Given the description of an element on the screen output the (x, y) to click on. 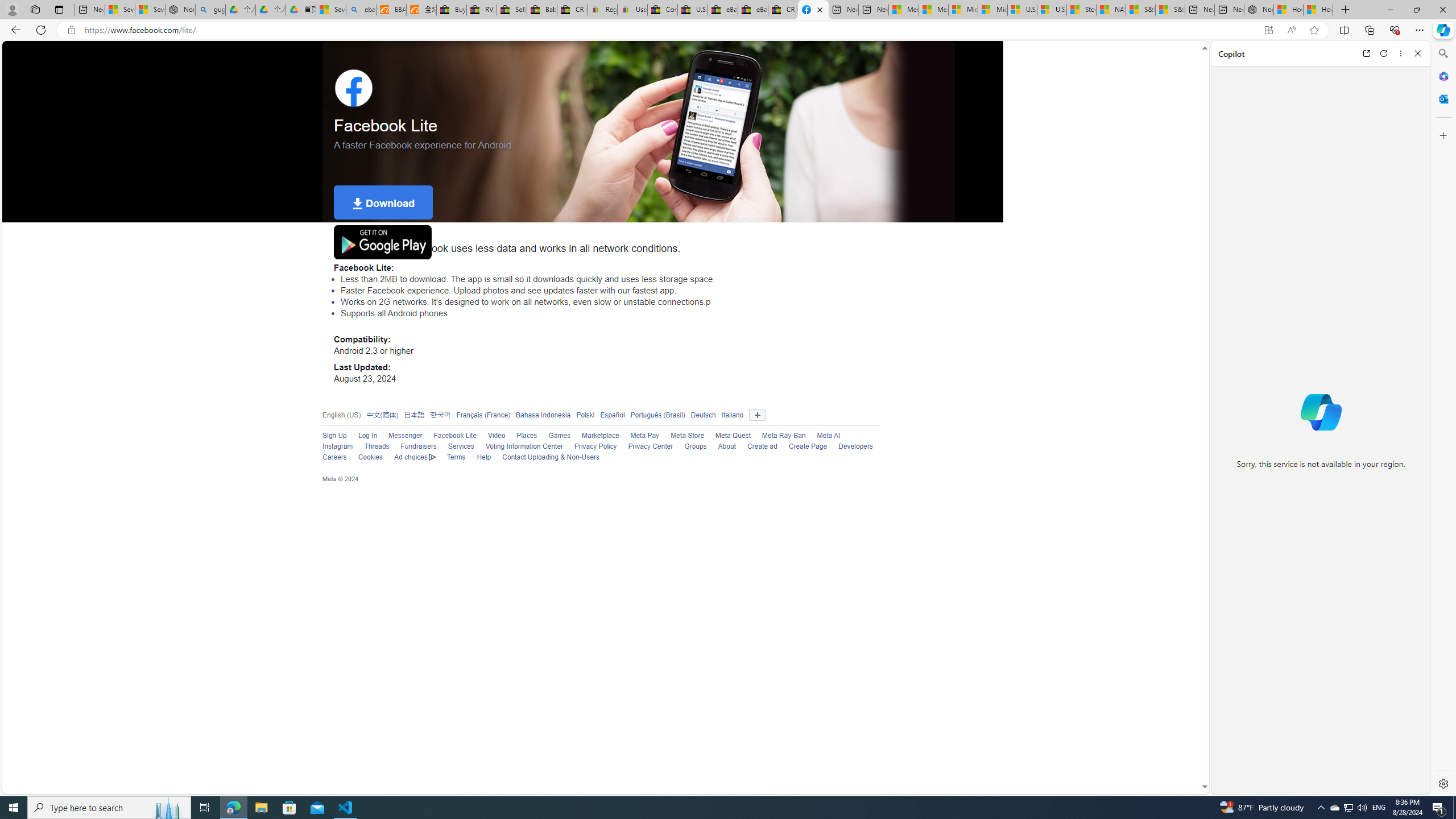
Voting Information Center (518, 446)
Supports all Android phones (610, 313)
Italiano (732, 414)
Facebook Lite (454, 435)
Video (490, 436)
Meta AI (822, 436)
Terms (450, 457)
New tab (1229, 9)
About (720, 446)
App available. Install Facebook (1268, 29)
Buy Auto Parts & Accessories | eBay (450, 9)
Polski (582, 415)
Meta Quest (732, 435)
